Given the description of an element on the screen output the (x, y) to click on. 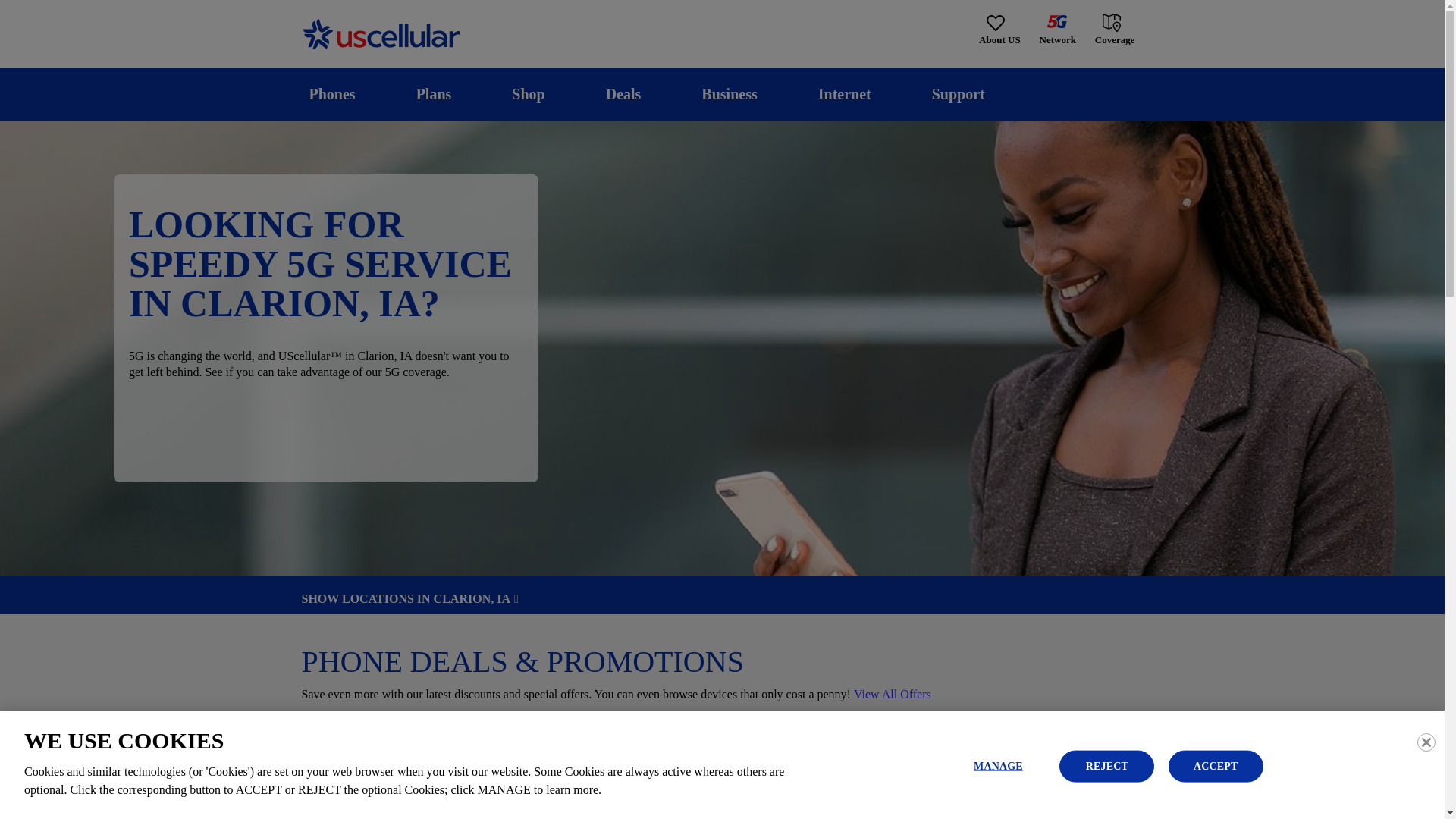
Coverage (1115, 29)
About US (999, 30)
Internet (844, 94)
Plans (433, 94)
Support (957, 94)
Business (729, 94)
Network (1057, 30)
Phones (332, 94)
View All Offers (892, 694)
SHOW LOCATIONS IN CLARION, IA (722, 598)
Deals (623, 94)
Shop (528, 94)
